Given the description of an element on the screen output the (x, y) to click on. 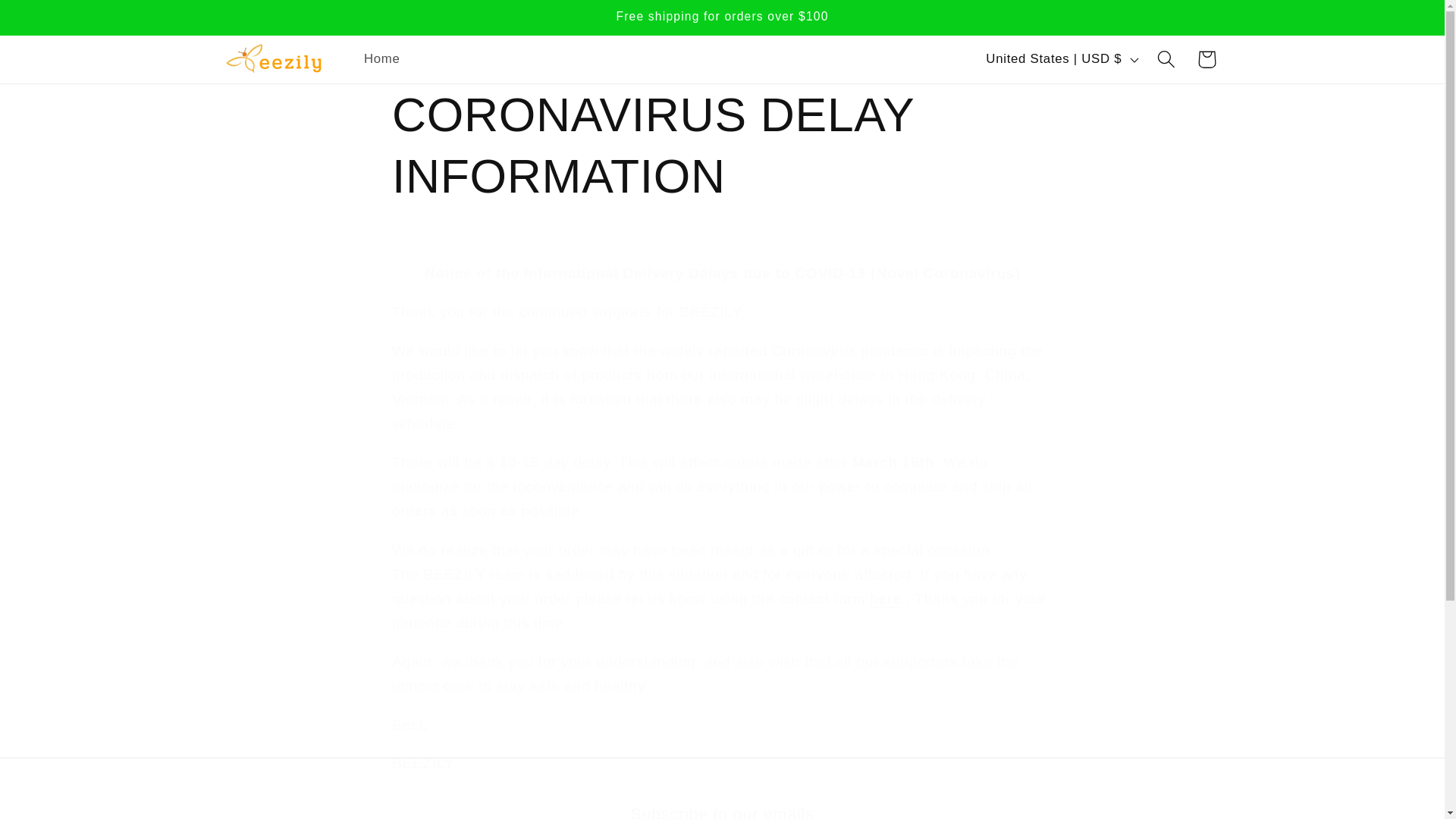
Skip to content (55, 20)
CORONAVIRUS DELAY INFORMATION (721, 145)
here (885, 598)
Home (722, 811)
Cart (381, 58)
